Given the description of an element on the screen output the (x, y) to click on. 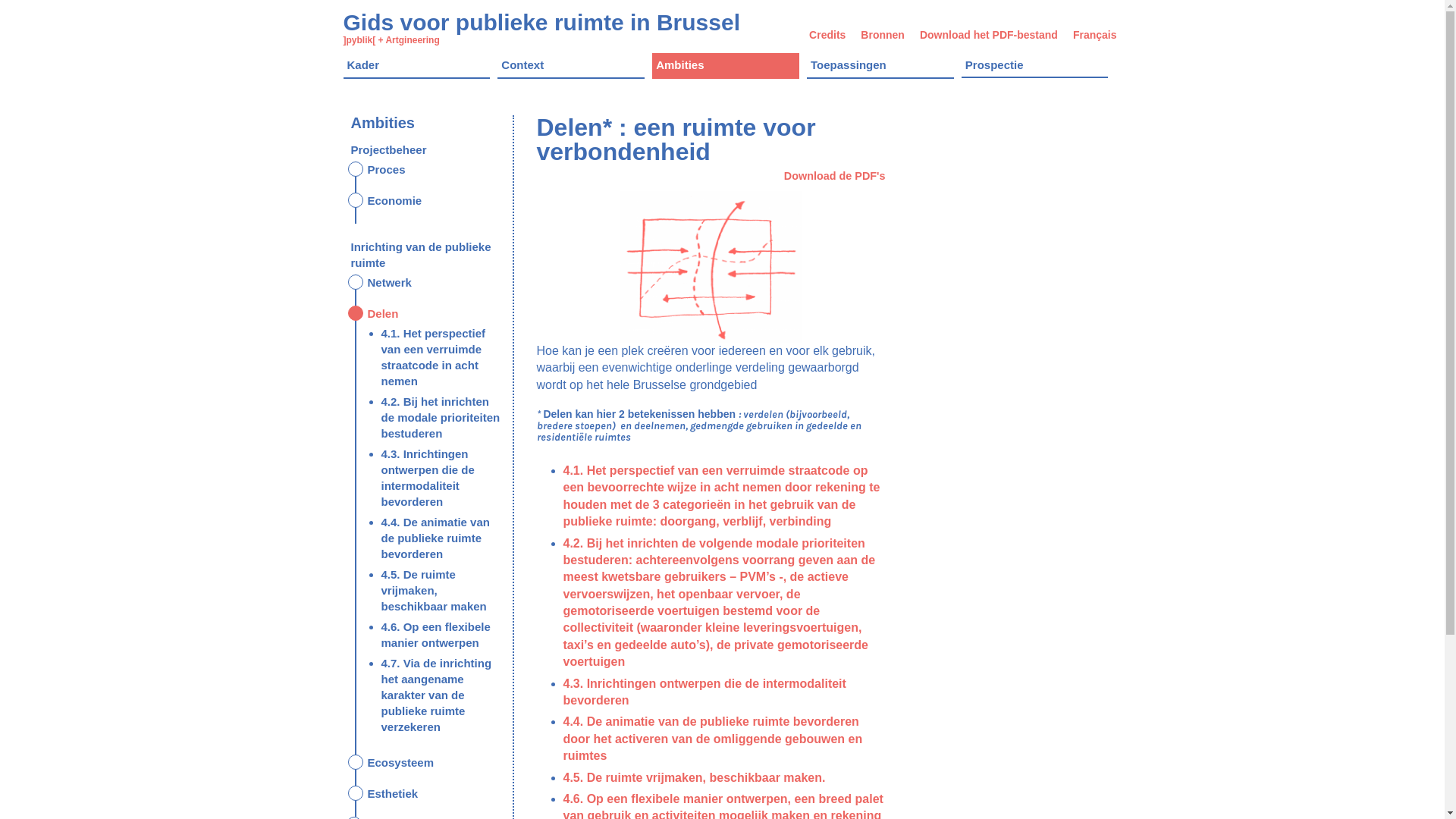
Ambities Element type: text (382, 122)
Inrichting van de publieke ruimte Element type: text (420, 254)
4.5. De ruimte vrijmaken, beschikbaar maken Element type: text (433, 589)
Ecosysteem Element type: text (400, 762)
Proces Element type: text (385, 169)
]pyblik[ Element type: text (358, 39)
Toepassingen Element type: text (879, 66)
Prospectie Element type: text (1034, 65)
Ambities Element type: text (725, 66)
Delen Element type: text (382, 313)
4.4. De animatie van de publieke ruimte bevorderen Element type: text (434, 537)
Download het PDF-bestand Element type: text (988, 34)
4.6. Op een flexibele manier ontwerpen Element type: text (434, 634)
Esthetiek Element type: text (392, 793)
Gids voor publieke ruimte in Brussel Element type: text (540, 21)
Context Element type: text (570, 66)
Download de PDF's Element type: text (834, 175)
Credits Element type: text (827, 34)
Bronnen Element type: text (882, 34)
Kader Element type: text (415, 66)
Projectbeheer Element type: text (388, 149)
4.2. Bij het inrichten de modale prioriteiten bestuderen Element type: text (439, 417)
Netwerk Element type: text (389, 282)
Economie Element type: text (394, 200)
4.5. De ruimte vrijmaken, beschikbaar maken. Element type: text (693, 777)
Artgineering Element type: text (412, 39)
